Given the description of an element on the screen output the (x, y) to click on. 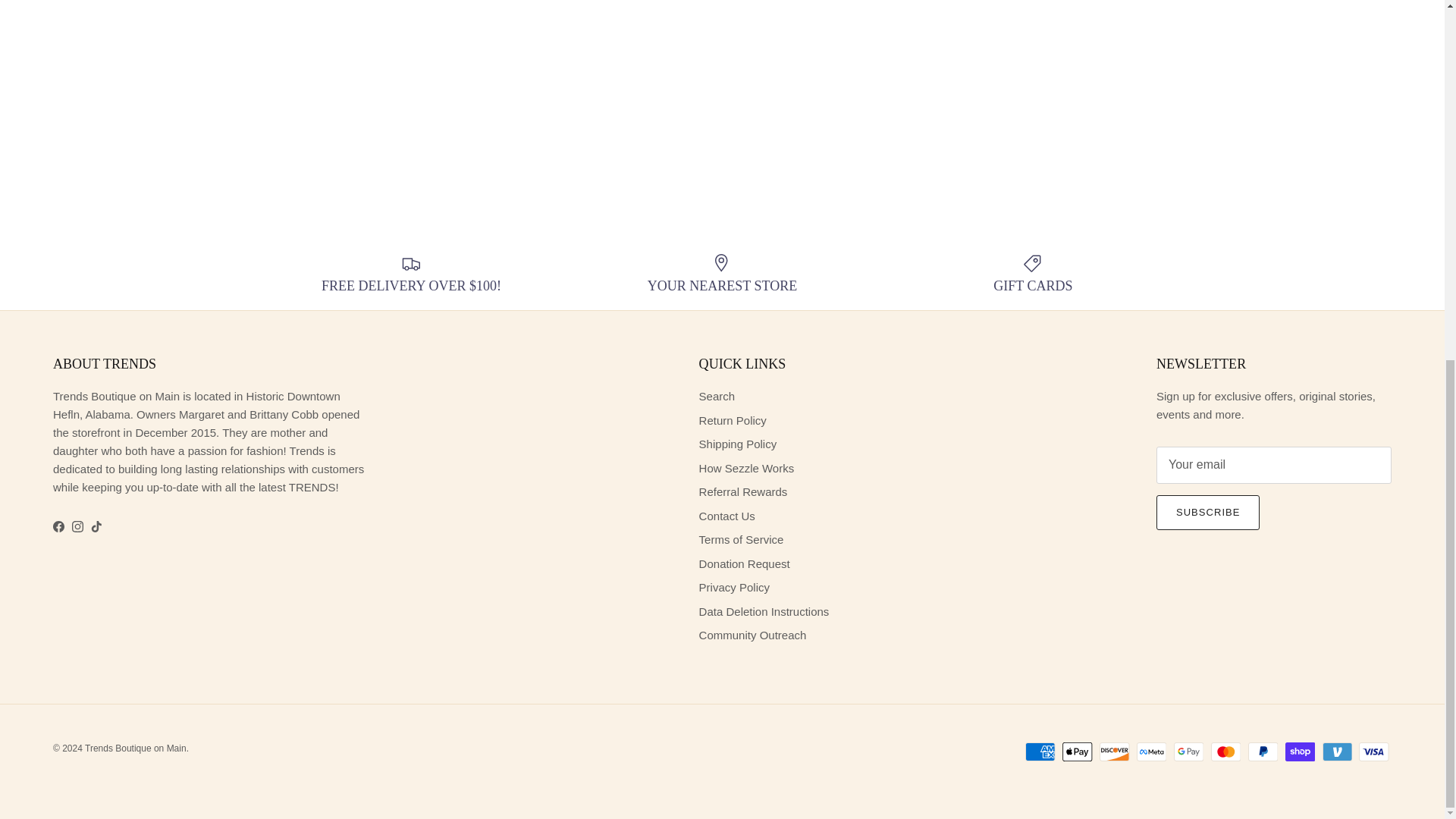
Venmo (1337, 751)
Trends Boutique on Main on Instagram (76, 526)
American Express (1040, 751)
Trends Boutique on Main on Facebook (58, 526)
PayPal (1262, 751)
Google Pay (1188, 751)
Discover (1114, 751)
Visa (1373, 751)
Meta Pay (1151, 751)
Mastercard (1225, 751)
Apple Pay (1077, 751)
Shop Pay (1299, 751)
Trends Boutique on Main on TikTok (95, 526)
